Given the description of an element on the screen output the (x, y) to click on. 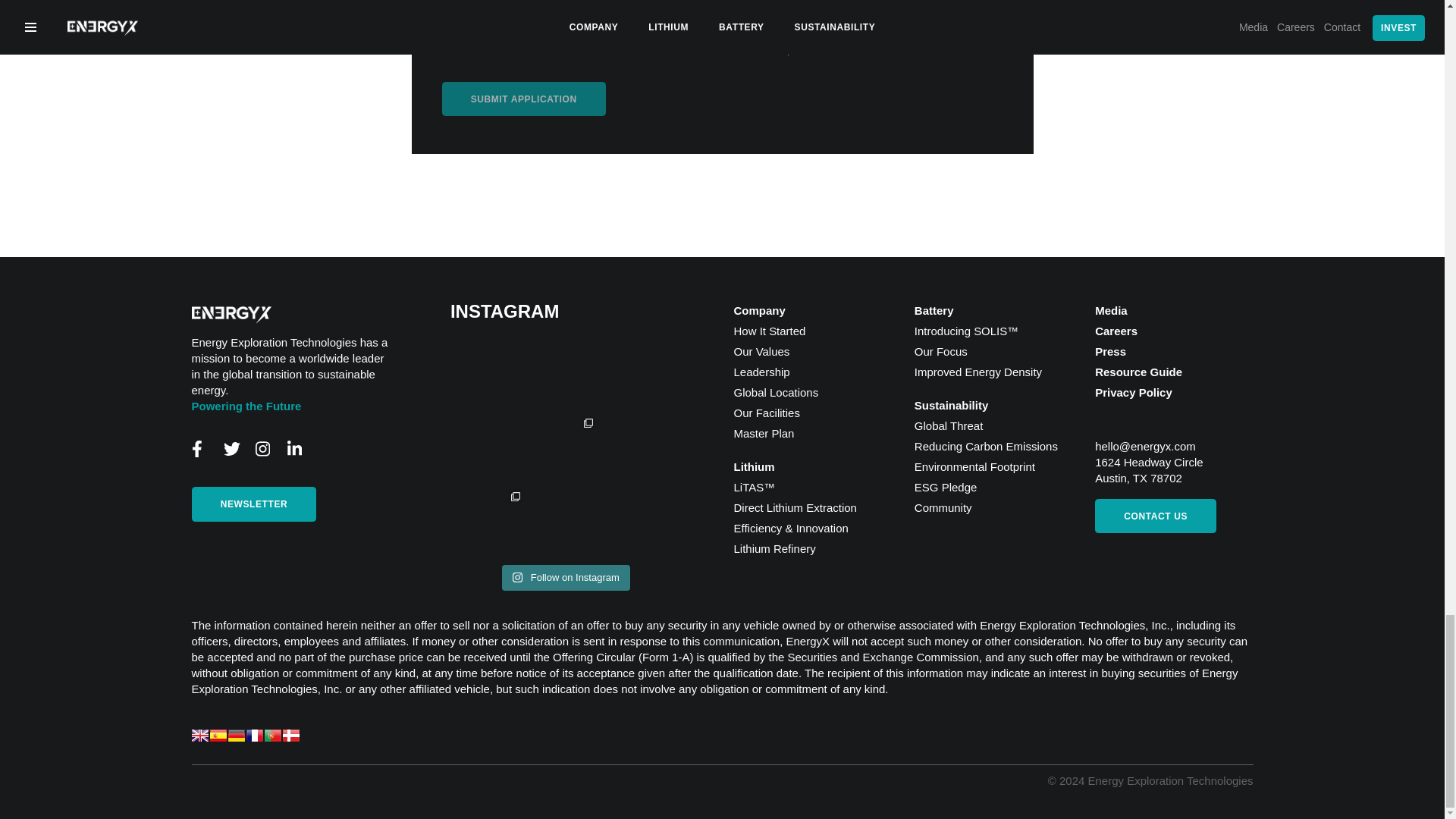
Submit Application (523, 98)
Spanish (217, 735)
French (254, 735)
German (235, 735)
English (199, 735)
Portuguese (272, 735)
Danish (290, 735)
